Given the description of an element on the screen output the (x, y) to click on. 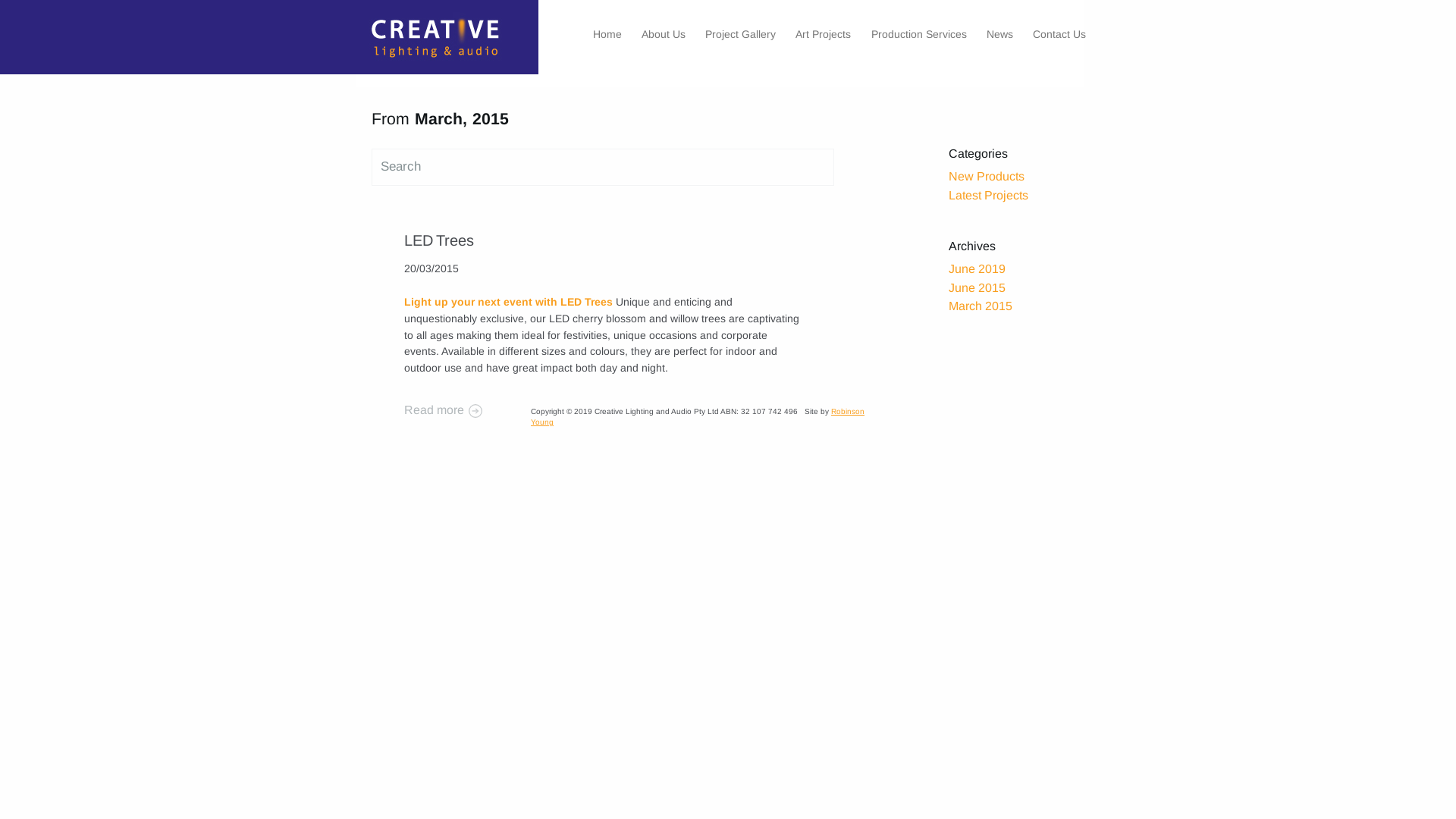
Home Element type: text (607, 33)
Production Services Element type: text (918, 33)
June 2015 Element type: text (976, 287)
Read more Element type: text (602, 410)
LED Trees Element type: text (438, 240)
March 2015 Element type: text (980, 305)
Robinson Young Element type: text (697, 416)
News Element type: text (999, 33)
Latest Projects Element type: text (988, 194)
Home Element type: hover (447, 41)
20/03/2015 Element type: text (430, 268)
New Products Element type: text (986, 175)
June 2019 Element type: text (976, 268)
Project Gallery Element type: text (740, 33)
Contact Us Element type: text (1058, 33)
Art Projects Element type: text (822, 33)
About Us Element type: text (663, 33)
